Given the description of an element on the screen output the (x, y) to click on. 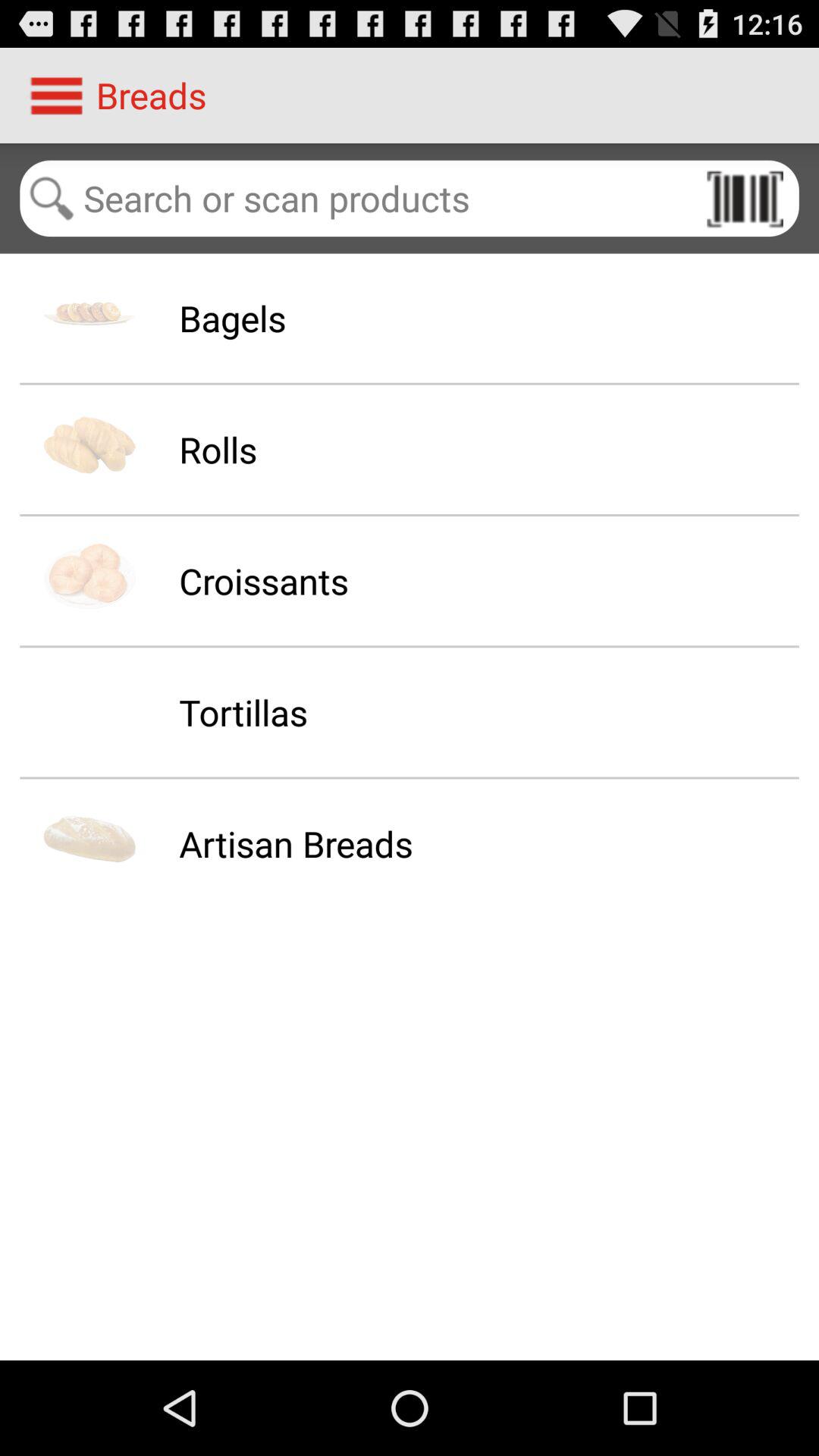
click the item above the artisan breads app (243, 712)
